Given the description of an element on the screen output the (x, y) to click on. 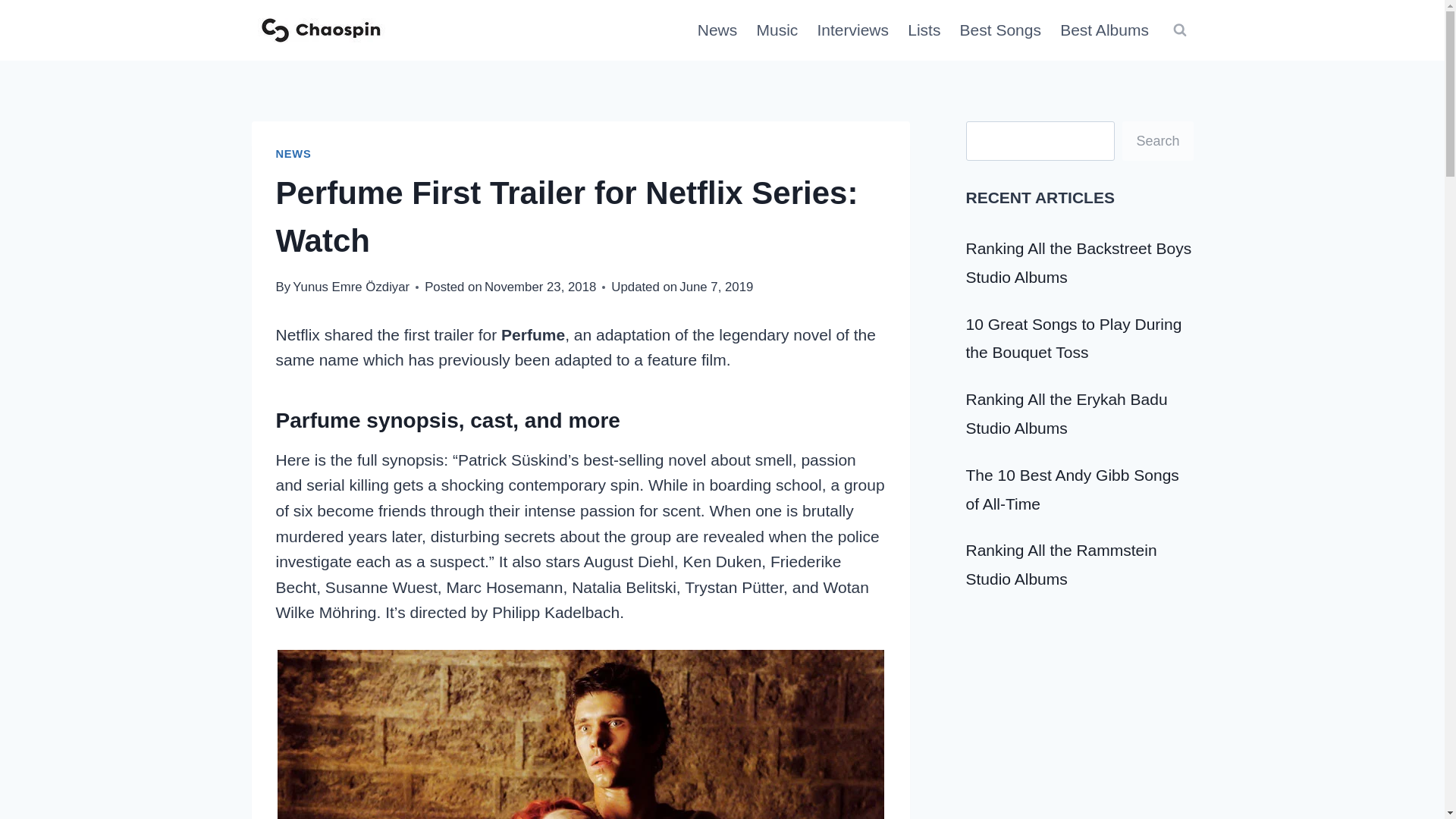
Music (777, 30)
Interviews (853, 30)
Best Songs (1000, 30)
Best Albums (1104, 30)
News (716, 30)
Lists (924, 30)
NEWS (293, 153)
